Given the description of an element on the screen output the (x, y) to click on. 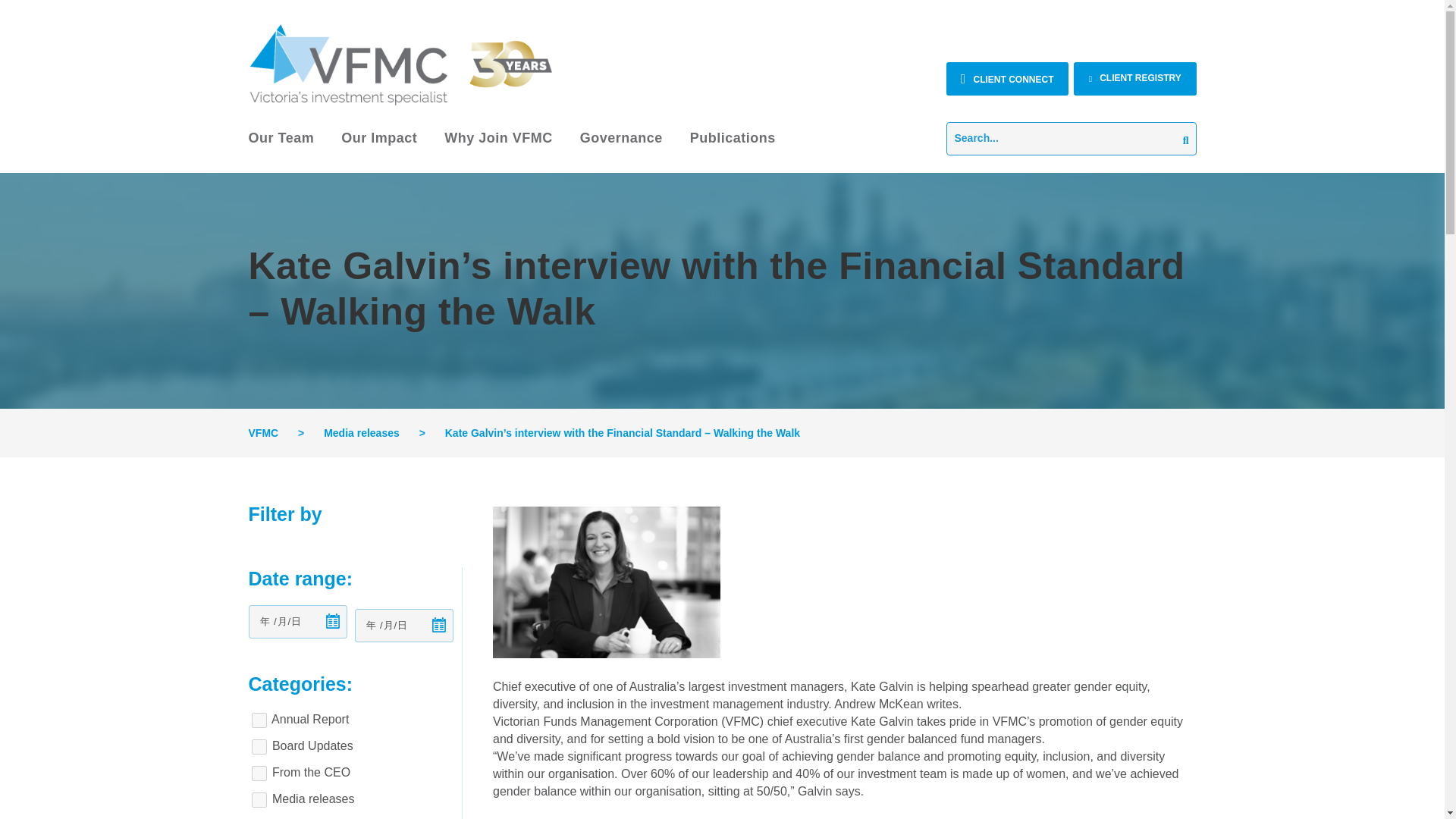
CLIENT REGISTRY (1135, 78)
871 (258, 720)
870 (258, 746)
Our Team (281, 145)
CLIENT CONNECT (1007, 78)
155 (258, 773)
Go to the Media releases Category archives. (360, 432)
Go to VFMC. (263, 432)
9 (258, 799)
VFMC-30YRS-GOLD-RGB (399, 63)
